Given the description of an element on the screen output the (x, y) to click on. 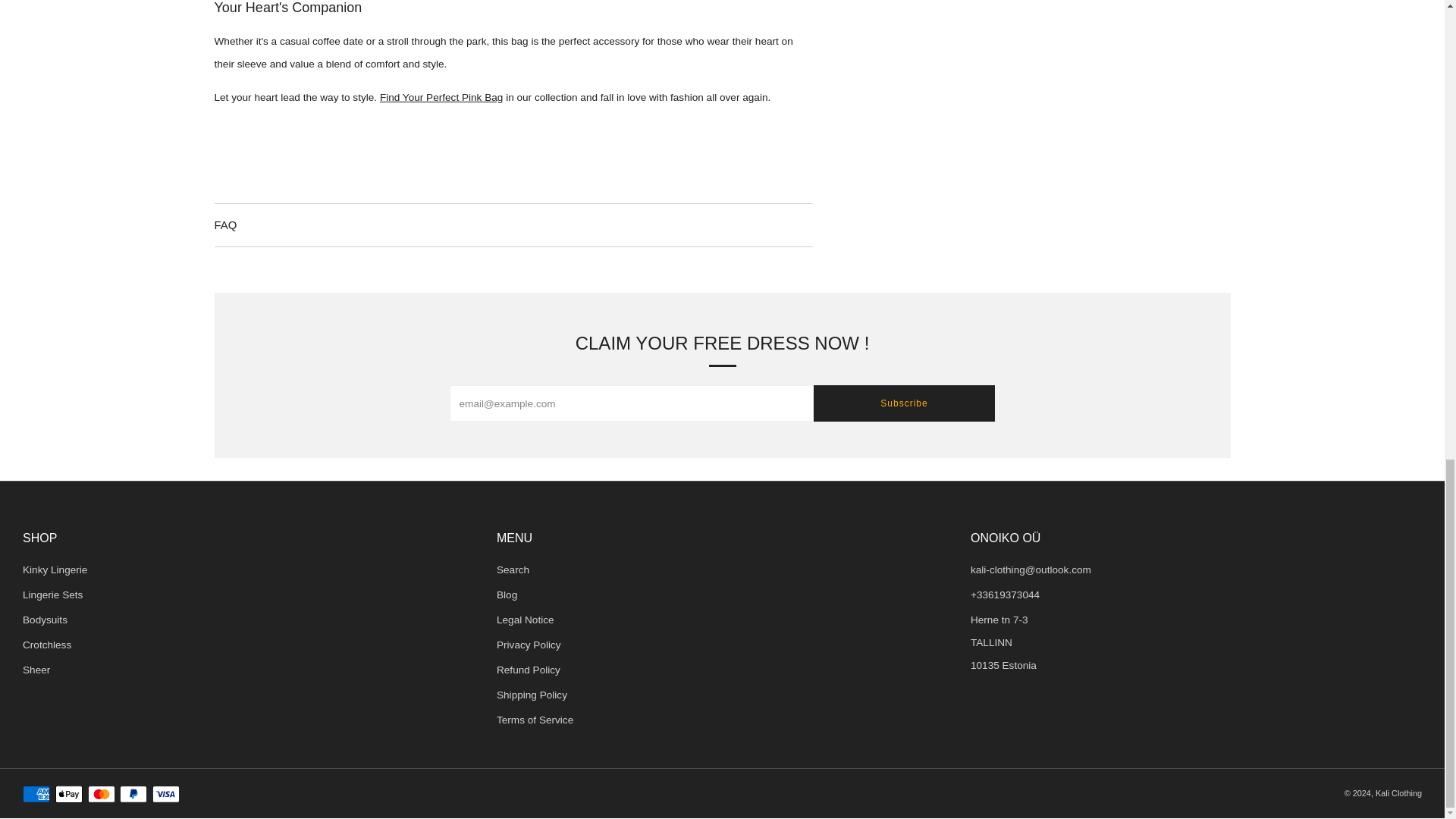
Lingerie Sets (52, 594)
Kinky Lingerie (55, 569)
Bodysuits (44, 619)
Subscribe (903, 402)
Find Your Perfect Pink Bag (441, 97)
Find Your Perfect Pink Bag (441, 97)
